Given the description of an element on the screen output the (x, y) to click on. 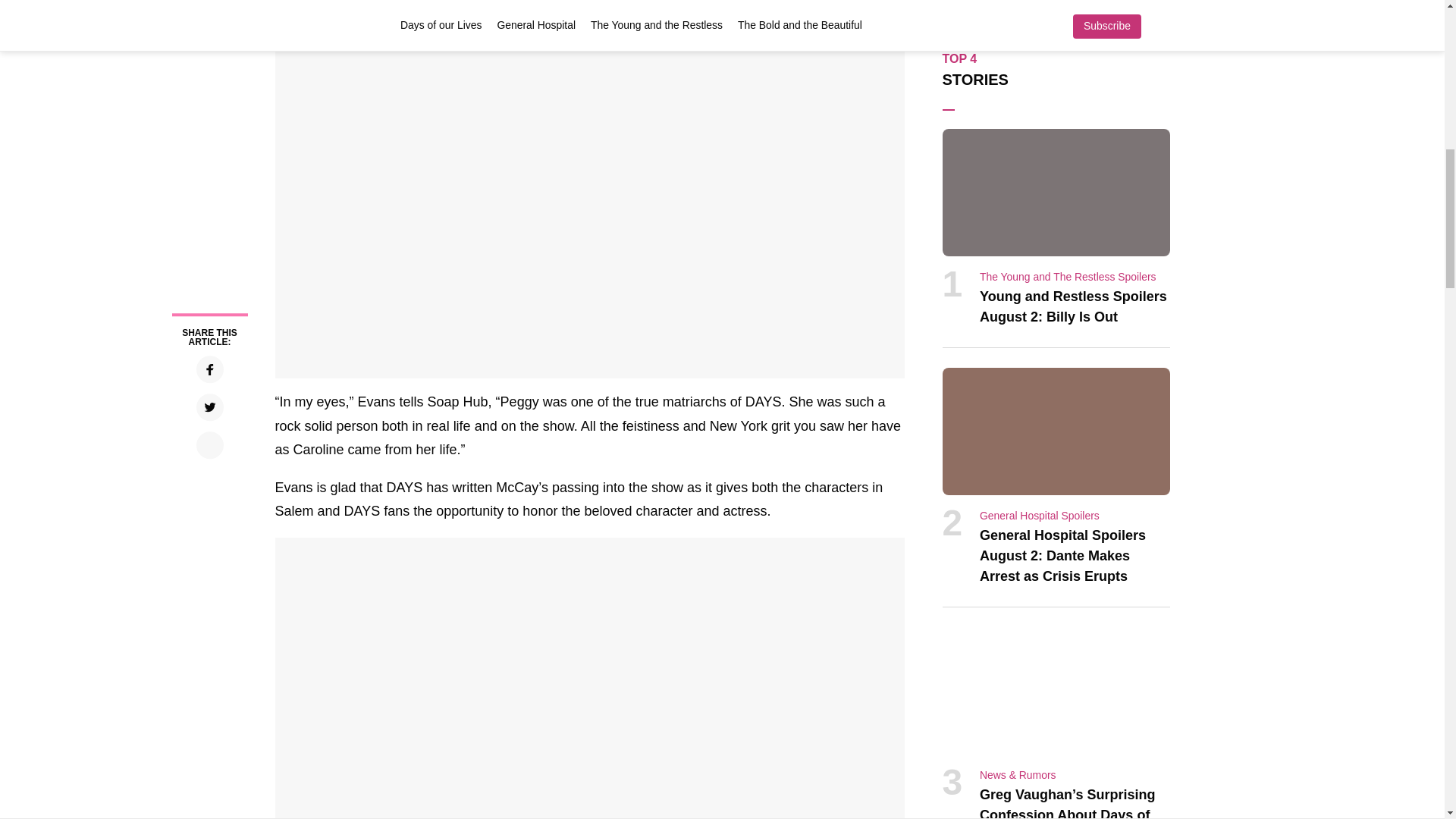
General Hospital Spoilers (1039, 515)
The Young and The Restless Spoilers (1067, 276)
Young and Restless Spoilers August 2: Billy Is Out (1073, 306)
